Given the description of an element on the screen output the (x, y) to click on. 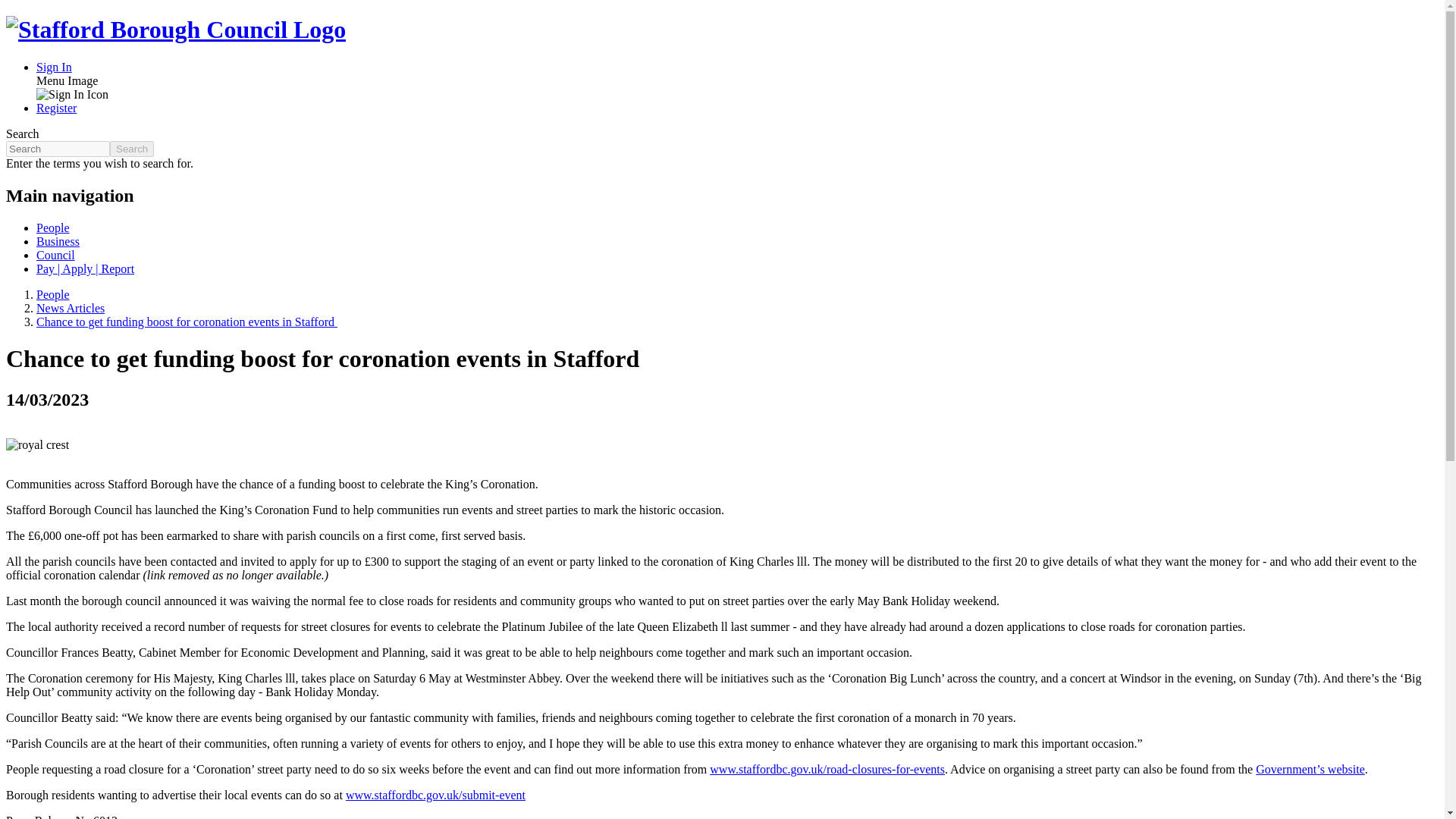
News Articles (70, 308)
Search (132, 148)
Business (58, 241)
People (52, 227)
Council (55, 254)
Sign In (53, 66)
Enter the terms you wish to search for. (57, 148)
Register (56, 107)
